Given the description of an element on the screen output the (x, y) to click on. 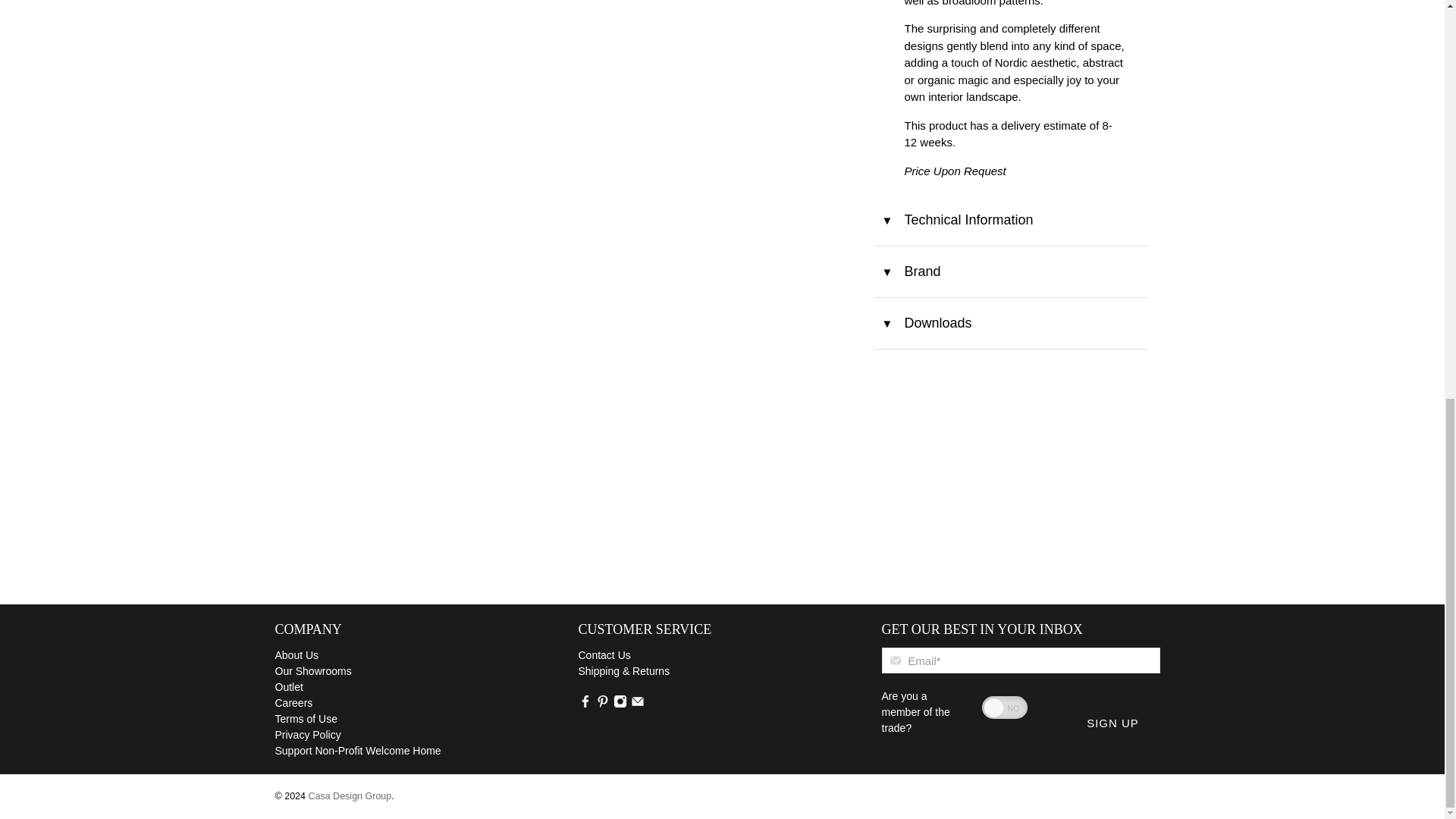
Casa Design Group on Instagram (619, 704)
Casa Design Group on Pinterest (602, 704)
Casa Design Group on Facebook (584, 704)
